Given the description of an element on the screen output the (x, y) to click on. 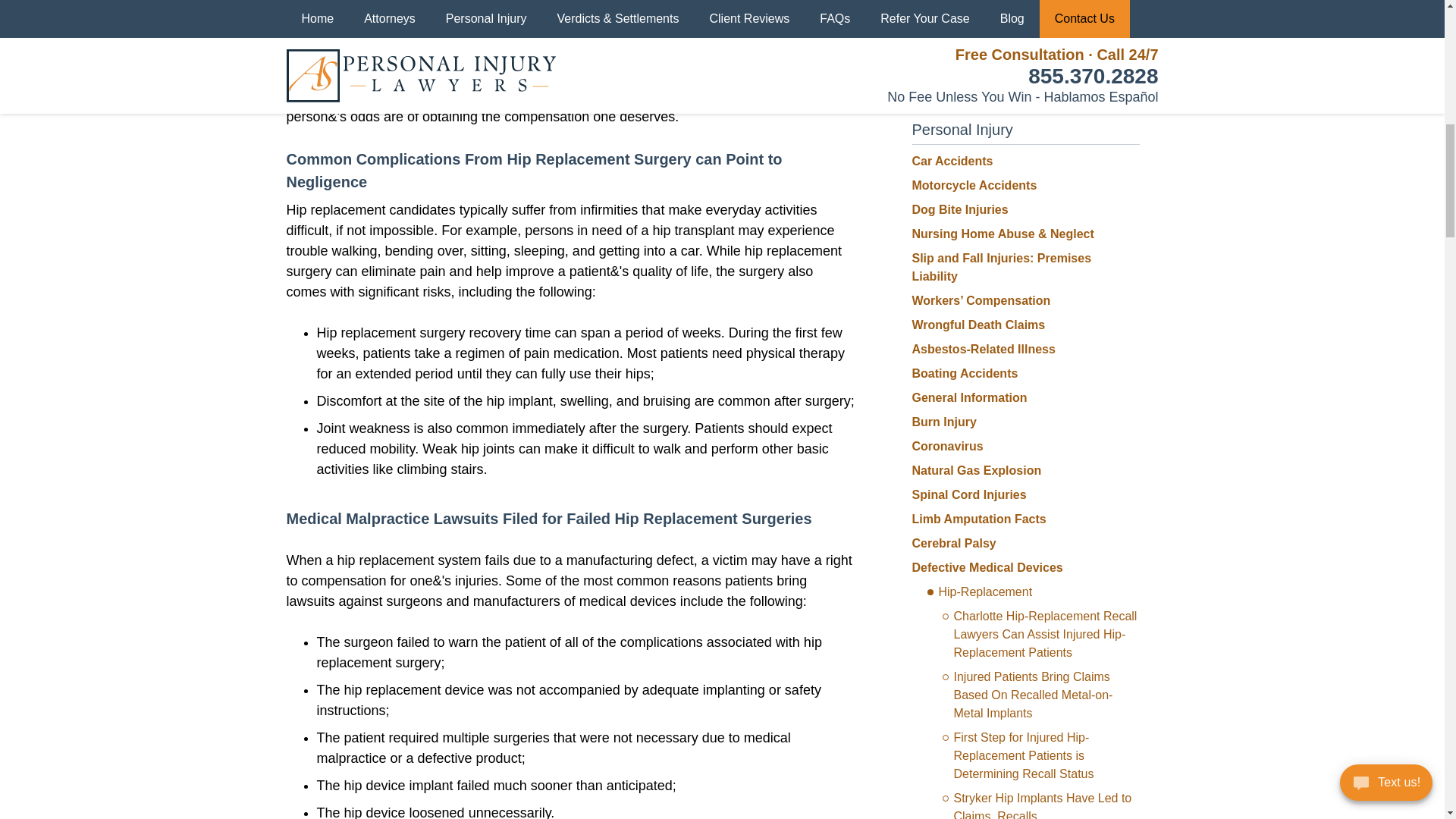
CONTACT US NOW (1024, 44)
Motorcycle Accidents (973, 185)
Personal Injury (961, 129)
hip revision injury (666, 96)
Car Accidents (951, 160)
